Given the description of an element on the screen output the (x, y) to click on. 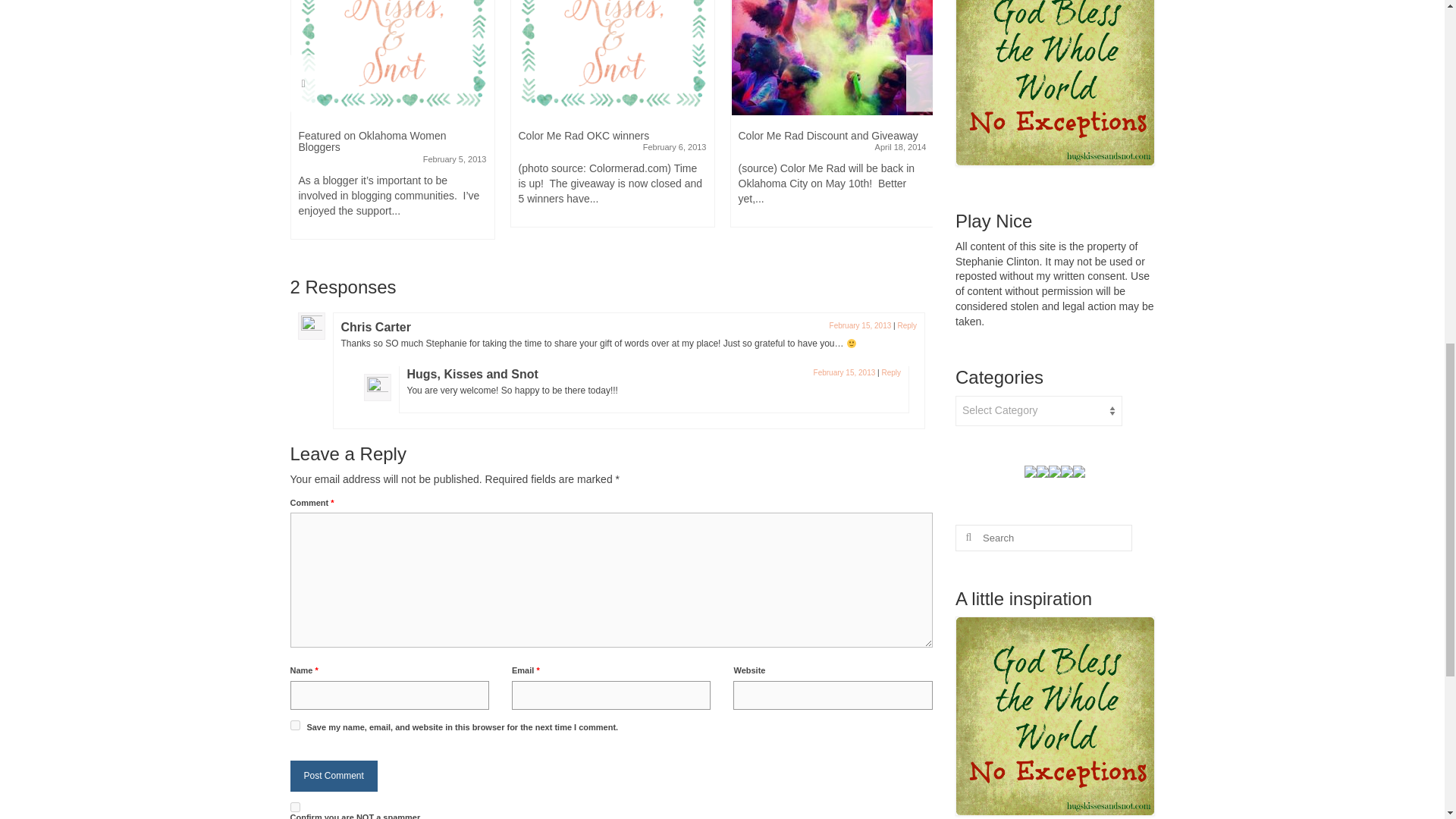
Color Me Rad Discount and Giveaway (832, 57)
yes (294, 725)
on (294, 807)
Color Me Rad OKC winners (612, 57)
Post Comment (333, 775)
God bless the whole world (1054, 83)
God bless the whole world (1054, 715)
Featured on Oklahoma Women Bloggers (393, 57)
